Given the description of an element on the screen output the (x, y) to click on. 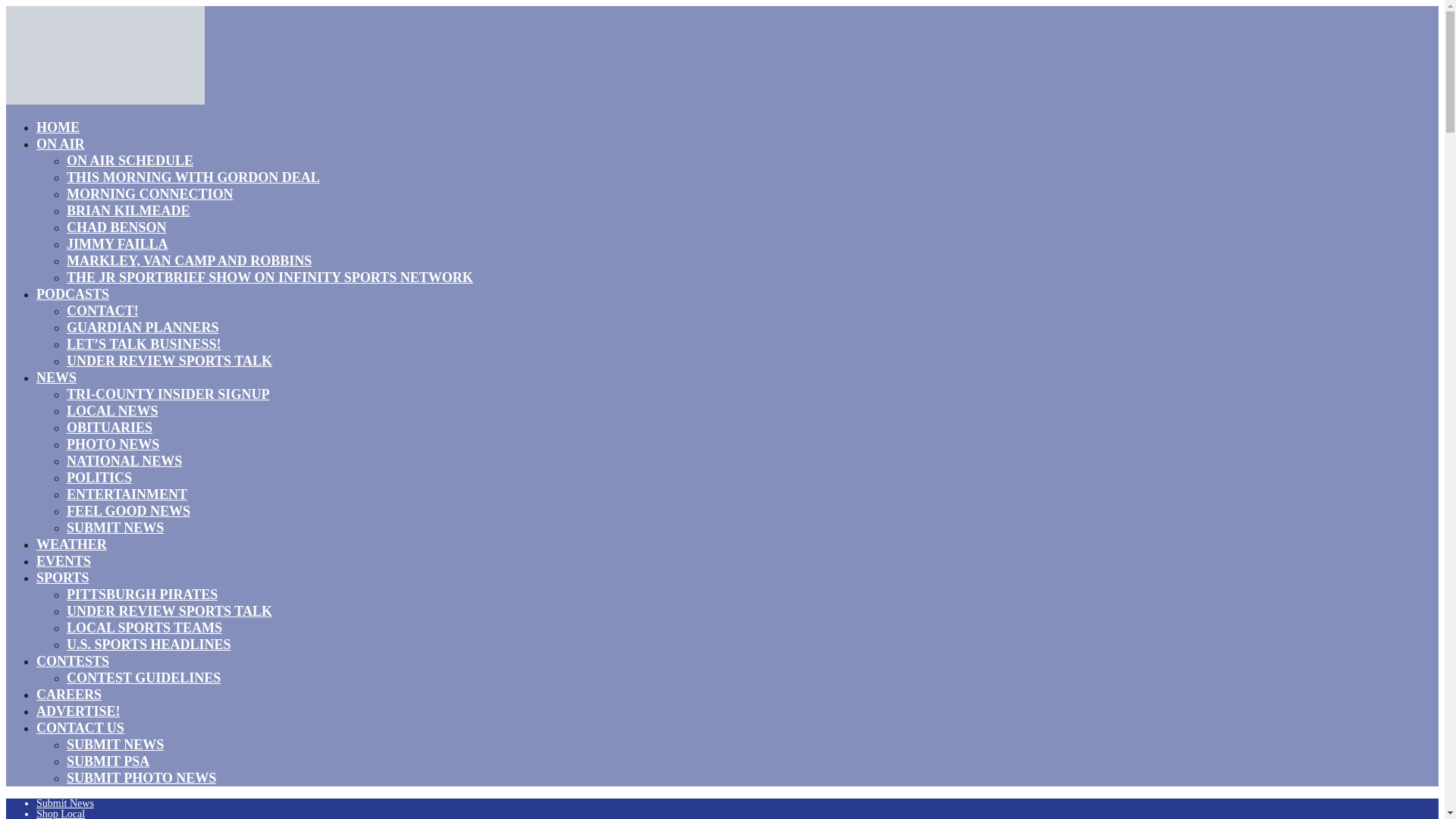
ON AIR SCHEDULE (129, 160)
SUBMIT NEWS (114, 527)
LOCAL SPORTS TEAMS (144, 627)
MORNING CONNECTION (149, 193)
PODCASTS (72, 293)
POLITICS (99, 477)
SPORTS (62, 577)
CAREERS (68, 694)
JIMMY FAILLA (117, 243)
LOCAL NEWS (112, 410)
